Given the description of an element on the screen output the (x, y) to click on. 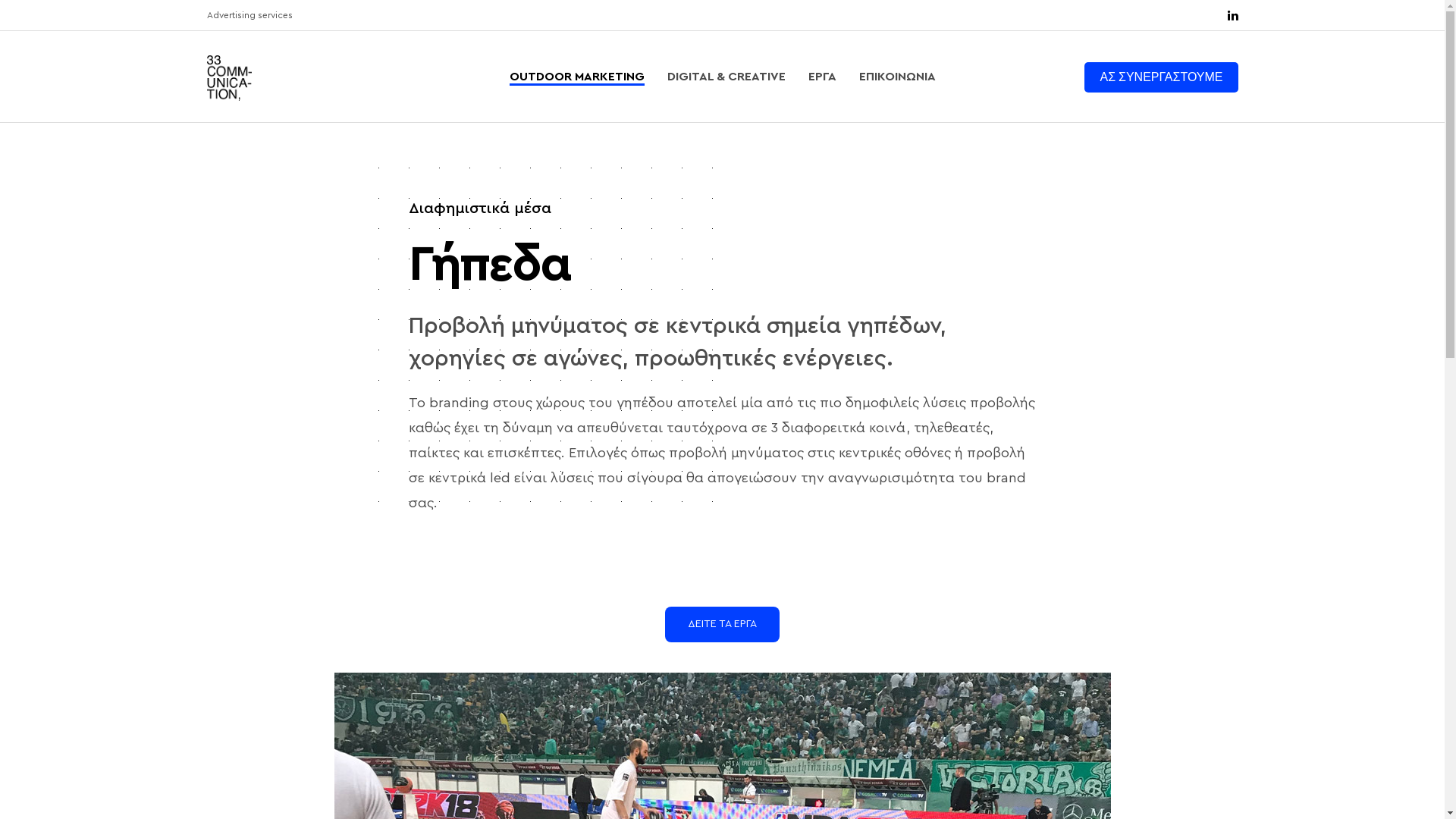
DIGITAL & CREATIVE Element type: text (726, 76)
OUTDOOR MARKETING Element type: text (576, 76)
